Given the description of an element on the screen output the (x, y) to click on. 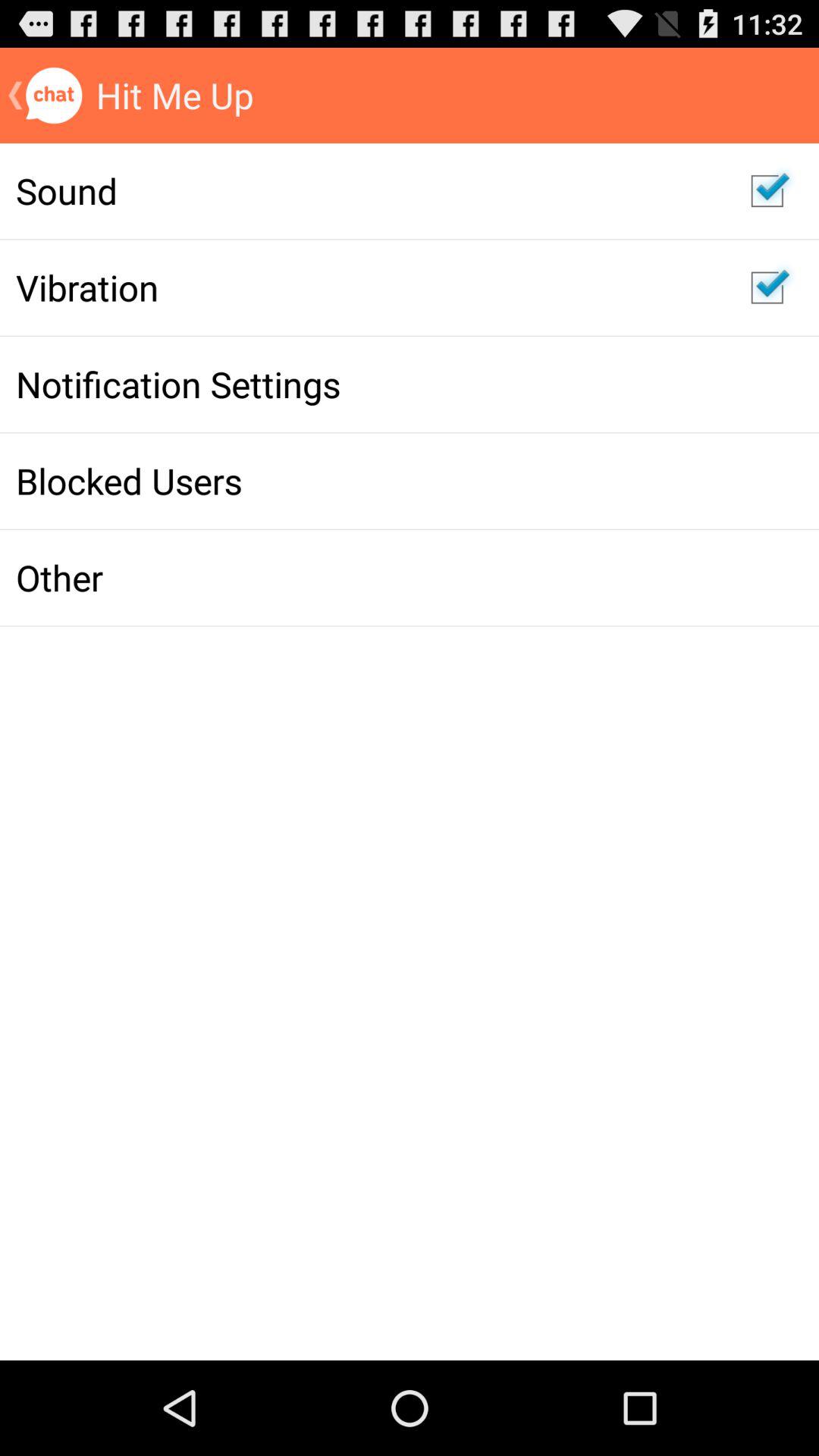
jump to sound icon (367, 190)
